Given the description of an element on the screen output the (x, y) to click on. 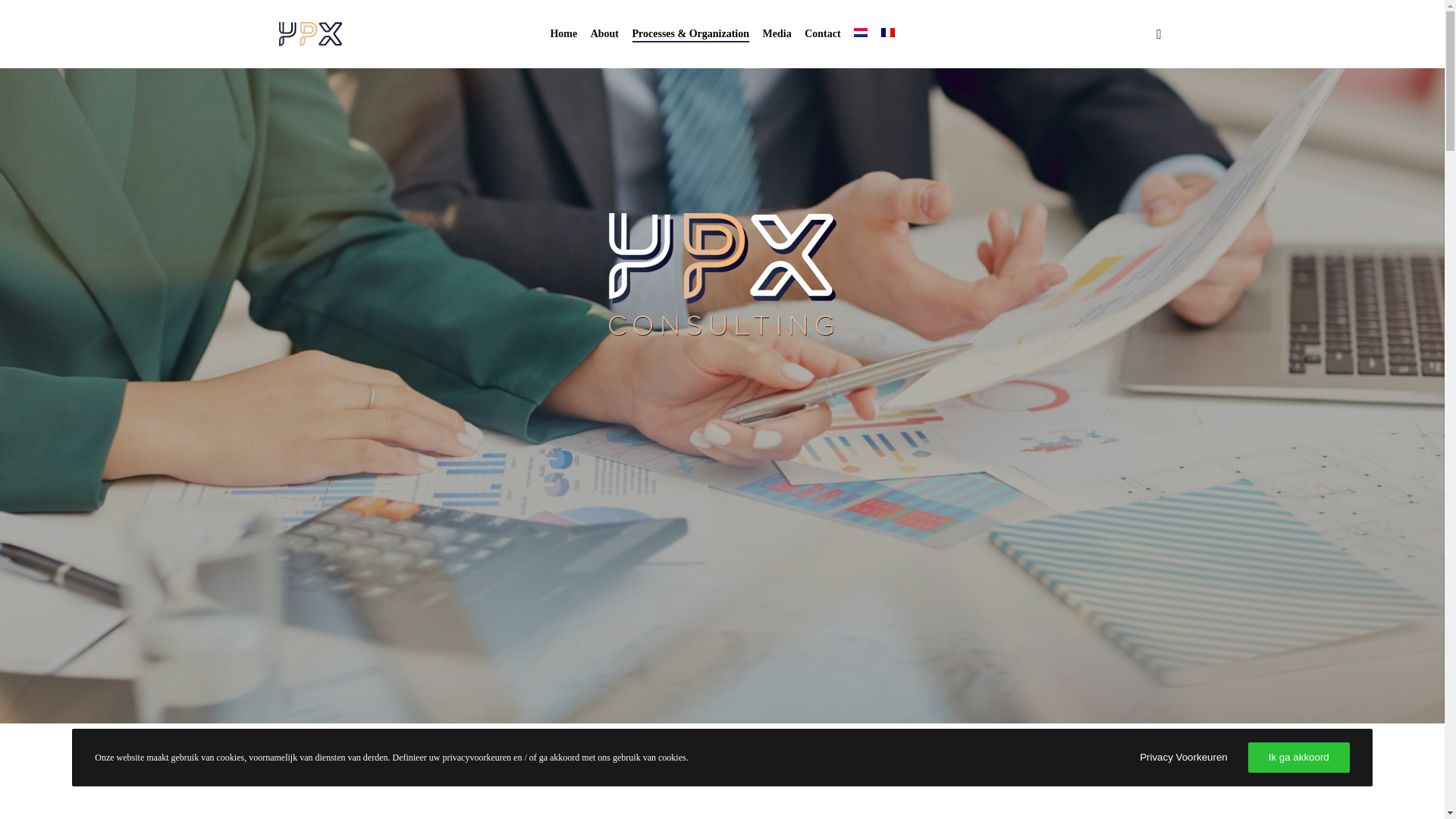
About (603, 33)
Contact (823, 33)
Home (563, 33)
Media (776, 33)
